Given the description of an element on the screen output the (x, y) to click on. 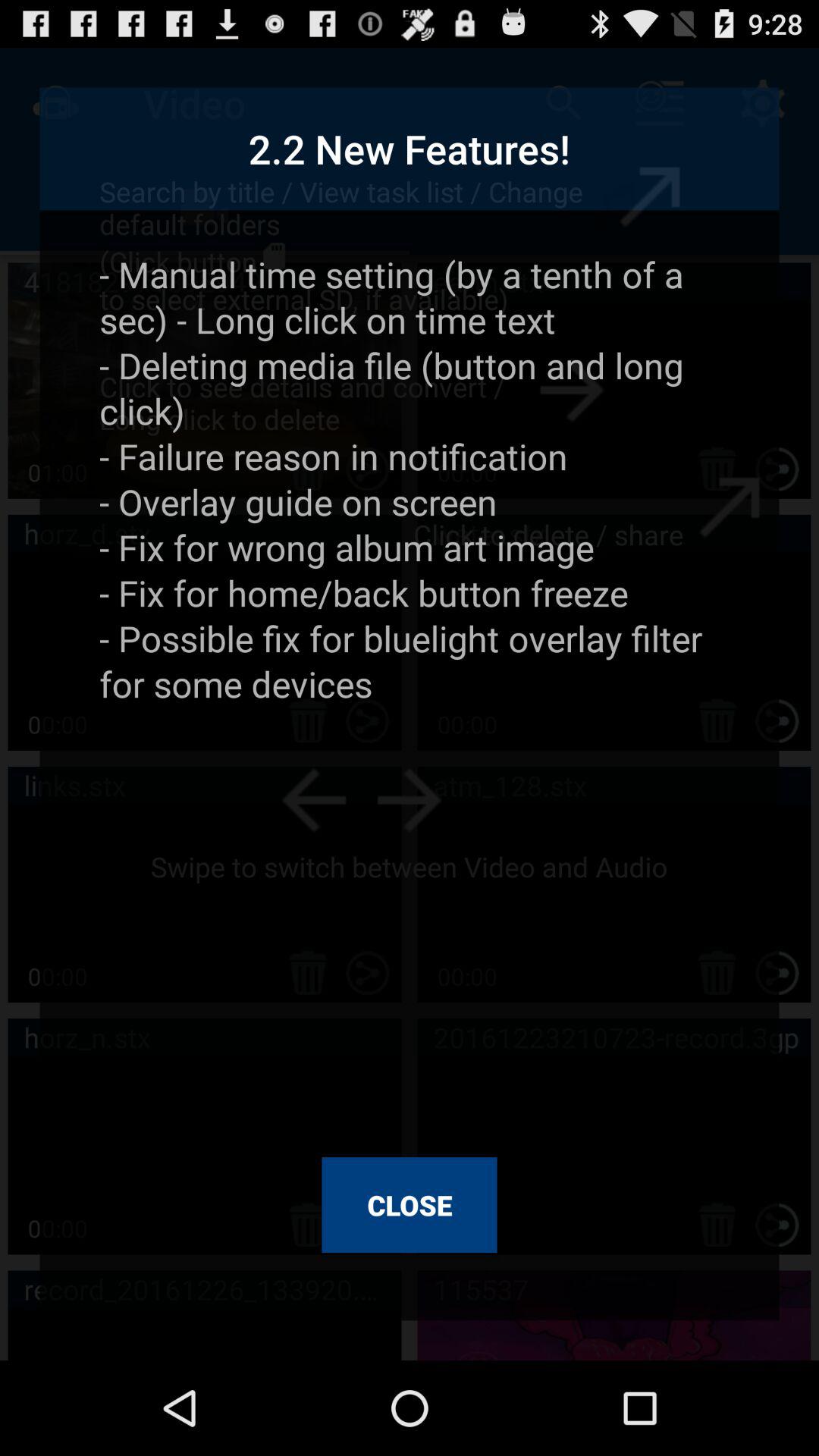
turn off the close at the bottom (409, 1204)
